Given the description of an element on the screen output the (x, y) to click on. 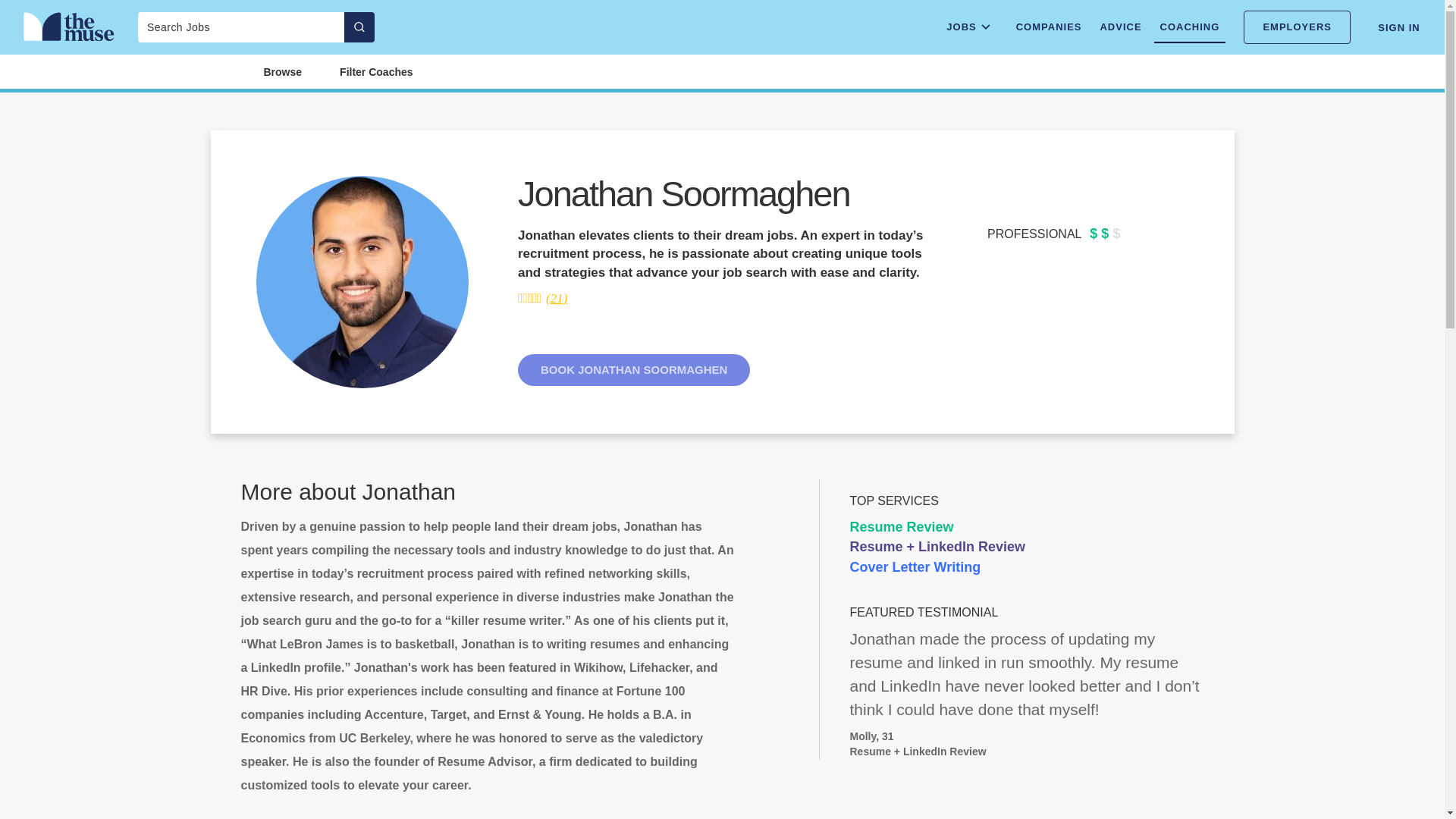
ADVICE (1120, 27)
EMPLOYERS (1297, 27)
SIGN IN (1398, 27)
BOOK JONATHAN SOORMAGHEN (633, 369)
COACHING (1189, 27)
COMPANIES (1048, 27)
Filter Coaches (375, 71)
Browse (282, 71)
